Given the description of an element on the screen output the (x, y) to click on. 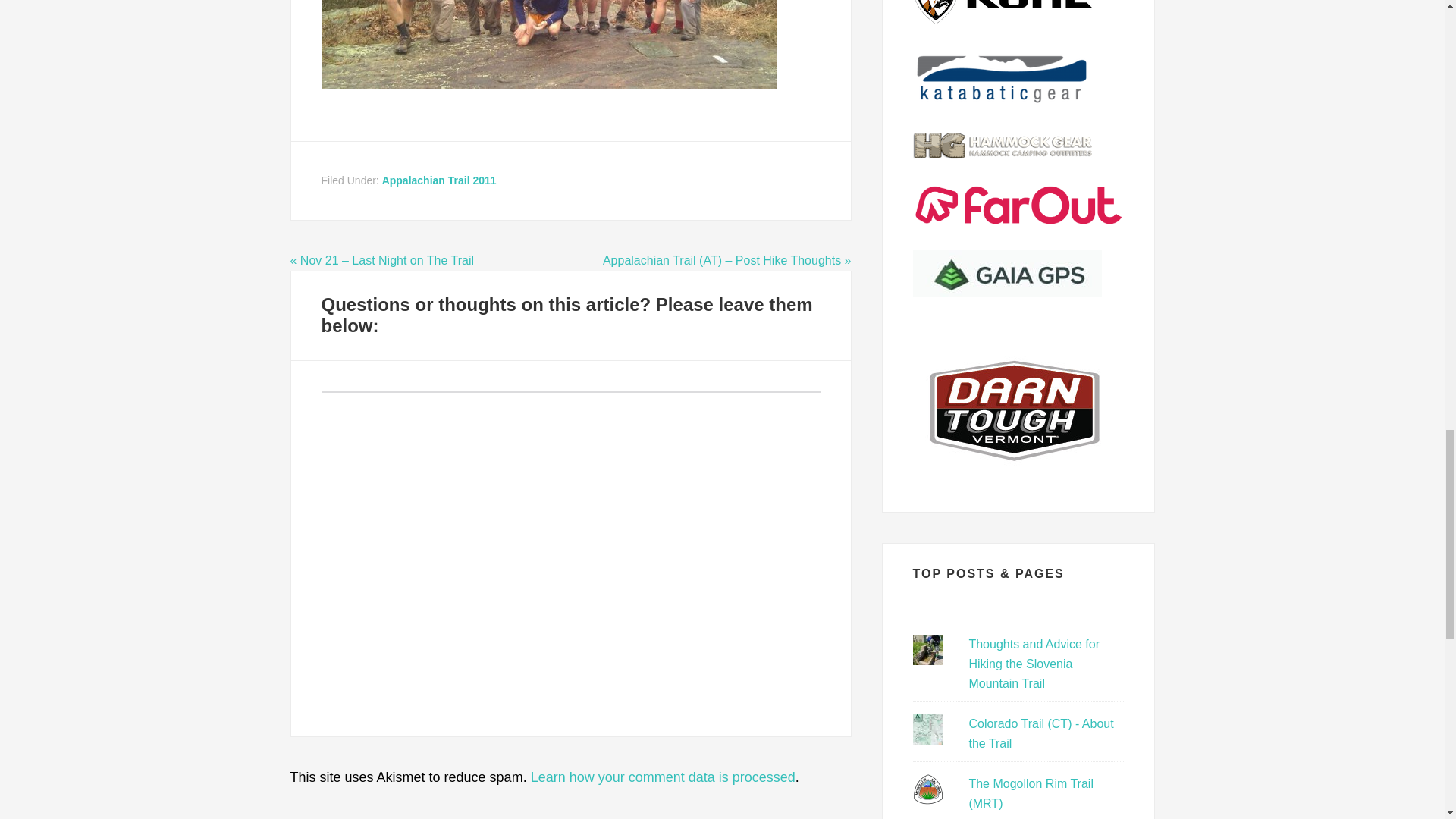
Thoughts and Advice for Hiking the Slovenia Mountain Trail (1033, 664)
Thoughts and Advice for Hiking the Slovenia Mountain Trail (1033, 664)
Learn how your comment data is processed (662, 776)
Appalachian Trail 2011 (438, 180)
